Given the description of an element on the screen output the (x, y) to click on. 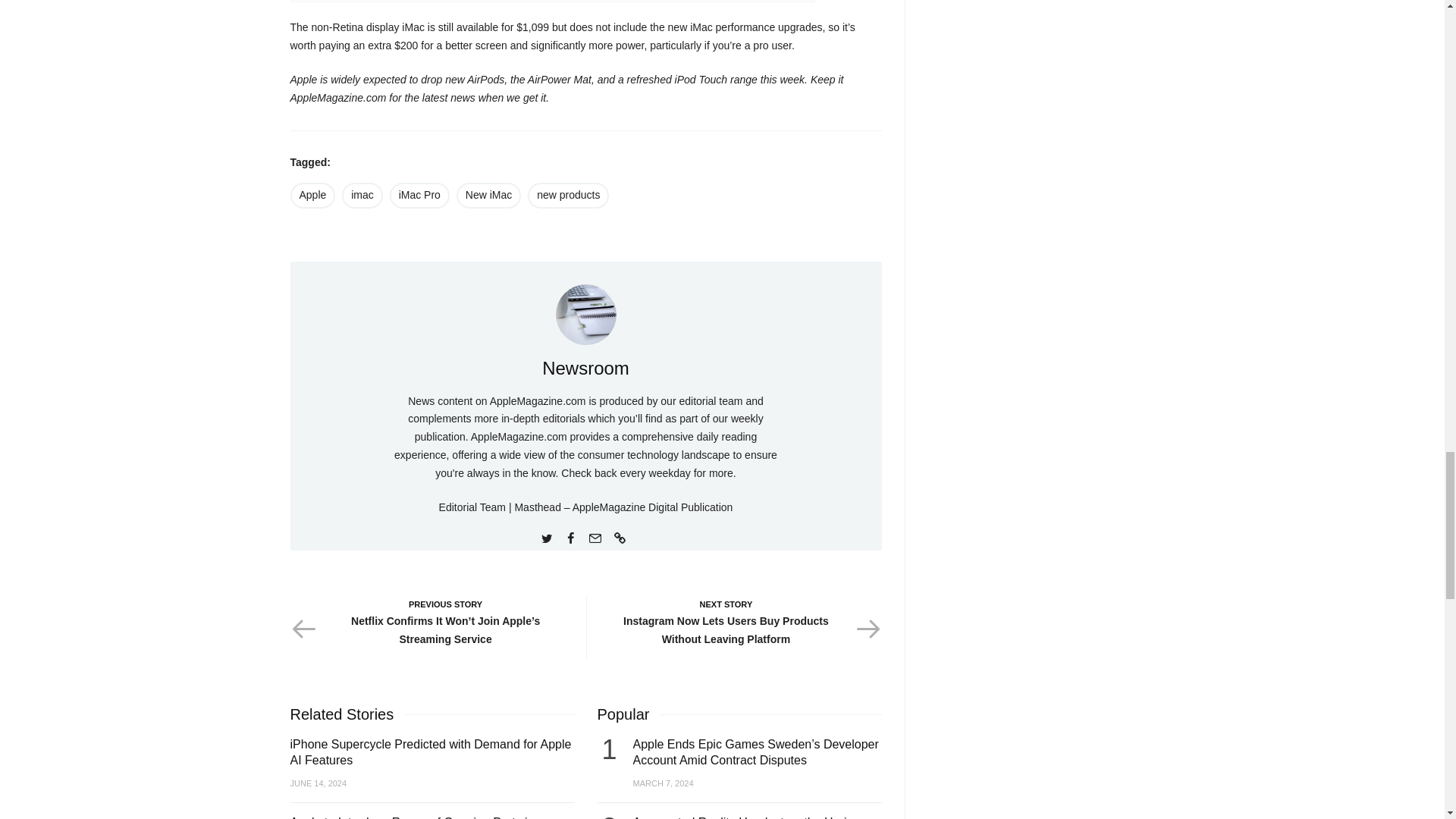
Apple (311, 195)
Newsroom (584, 367)
imac (362, 195)
Newsroom (584, 367)
new products (567, 195)
Newsroom (584, 313)
iMac Pro (419, 195)
New iMac (489, 195)
